Given the description of an element on the screen output the (x, y) to click on. 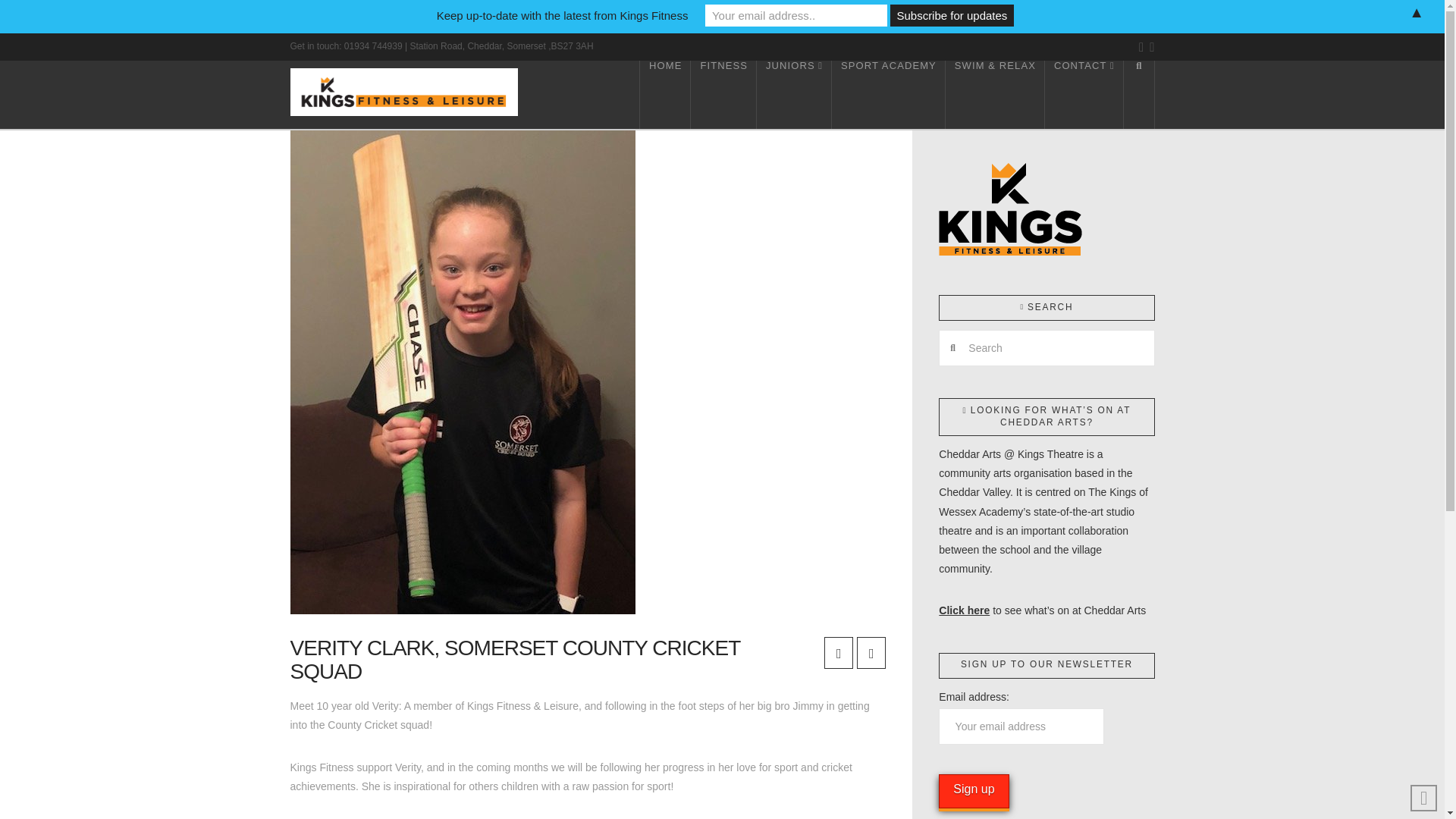
Subscribe for updates (951, 15)
Sign up (974, 790)
Click here (964, 610)
FITNESS (723, 94)
JUNIORS (794, 94)
SPORT ACADEMY (887, 94)
Sign up (974, 790)
CONTACT (1084, 94)
Back to Top (1423, 797)
